Given the description of an element on the screen output the (x, y) to click on. 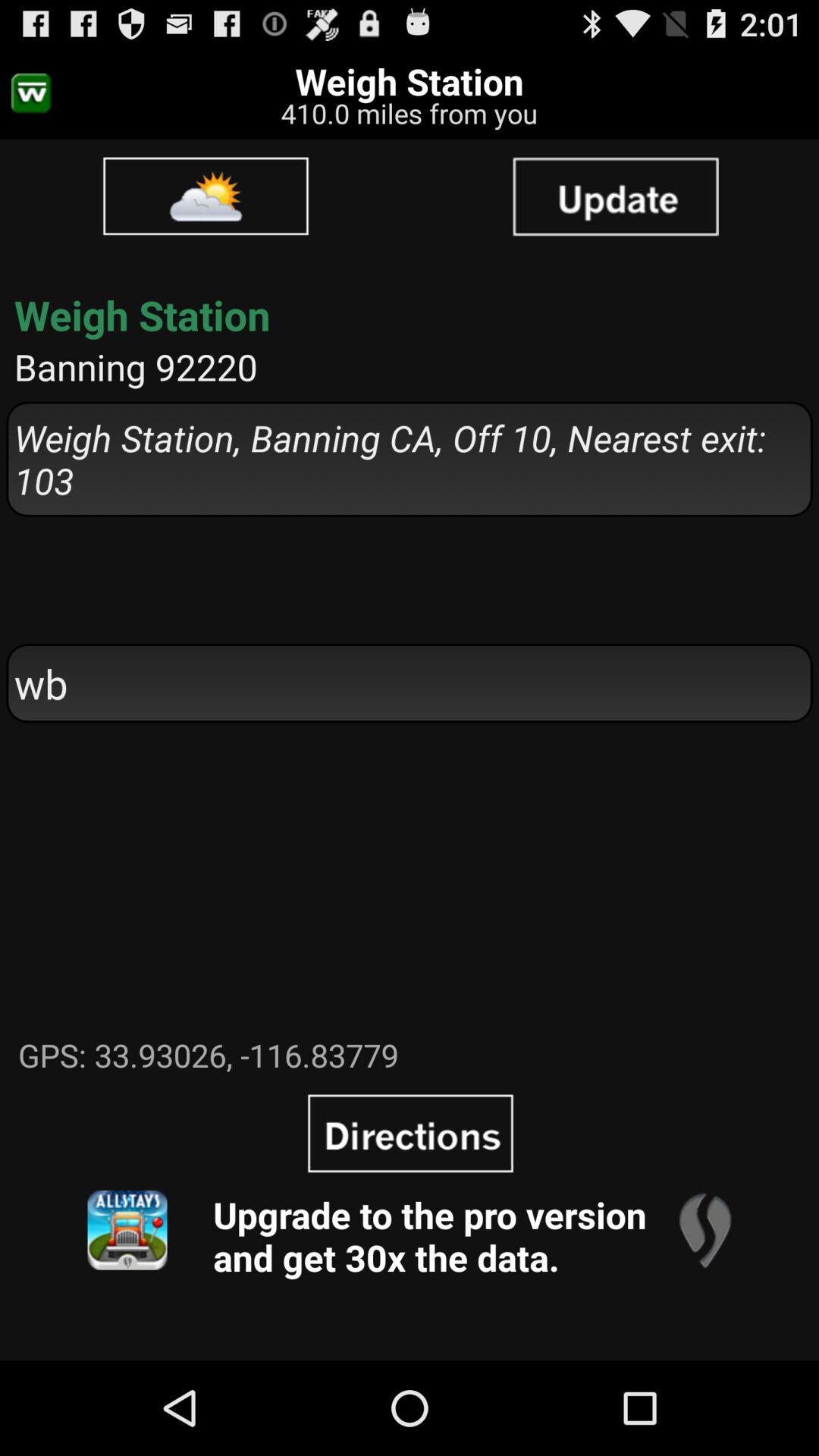
press the app below the gps 33 93026 (704, 1230)
